Given the description of an element on the screen output the (x, y) to click on. 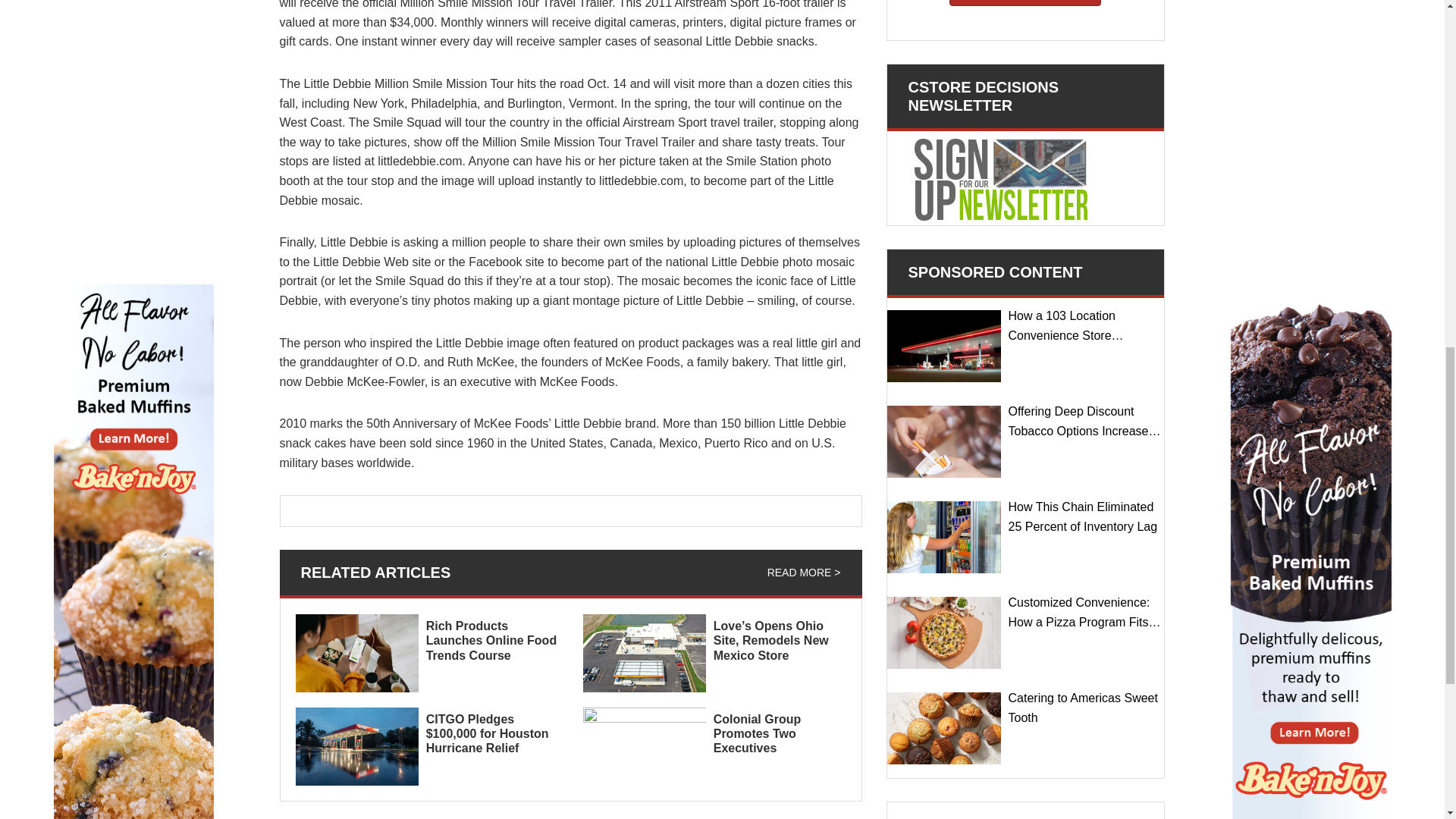
How a 103 Location Convenience Store Enhanced Operations (943, 346)
Offering Deep Discount Tobacco Options Increases Revenue (943, 441)
How This Chain Eliminated 25 Percent of Inventory Lag (943, 537)
Catering to Americas Sweet Tooth (943, 728)
